Given the description of an element on the screen output the (x, y) to click on. 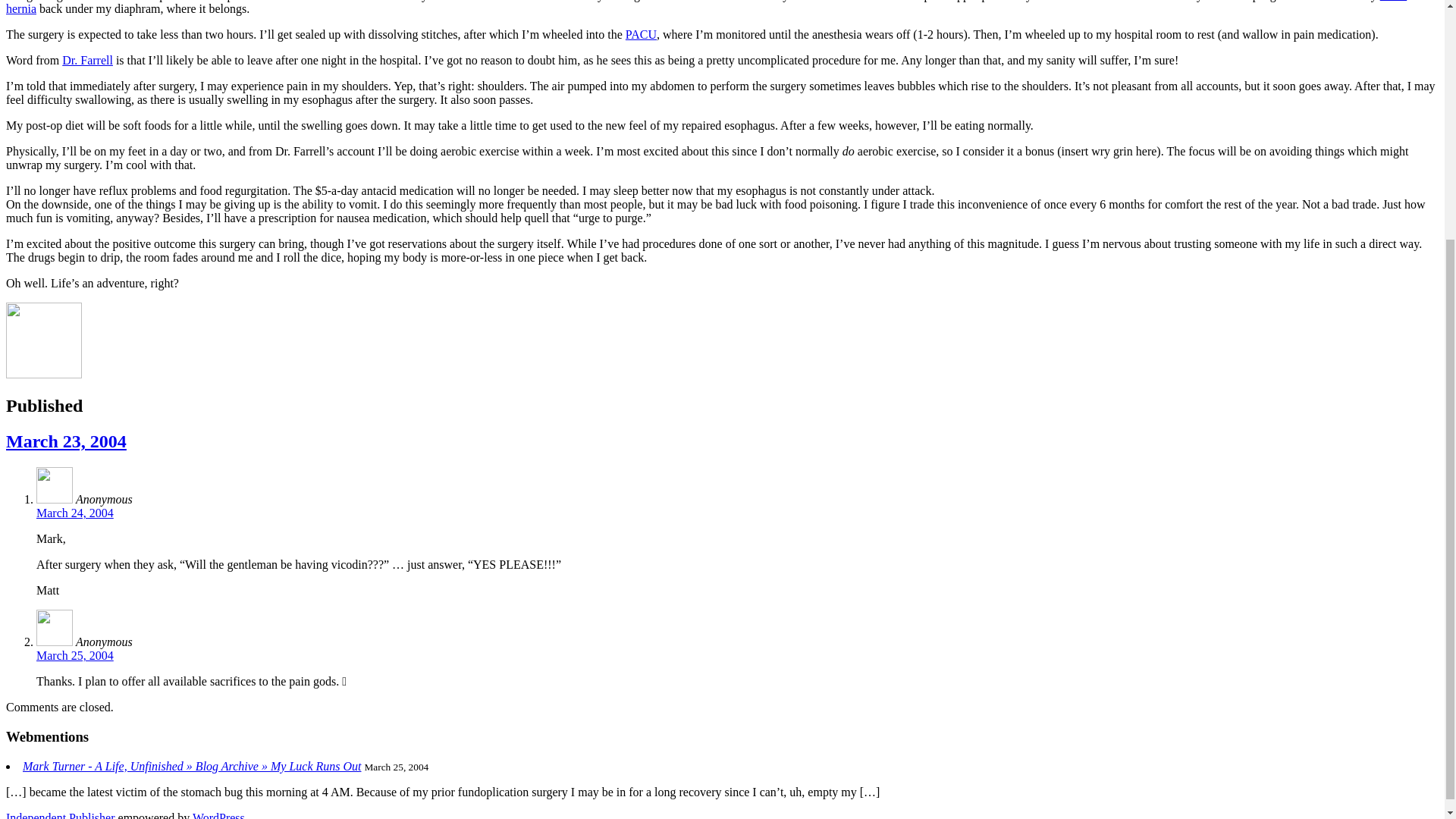
Surgery Thursday (65, 441)
March 23, 2004 (65, 441)
Dr. Farrell (87, 60)
March 24, 2004 (74, 512)
PACU (641, 33)
March 25, 2004 (74, 655)
